Given the description of an element on the screen output the (x, y) to click on. 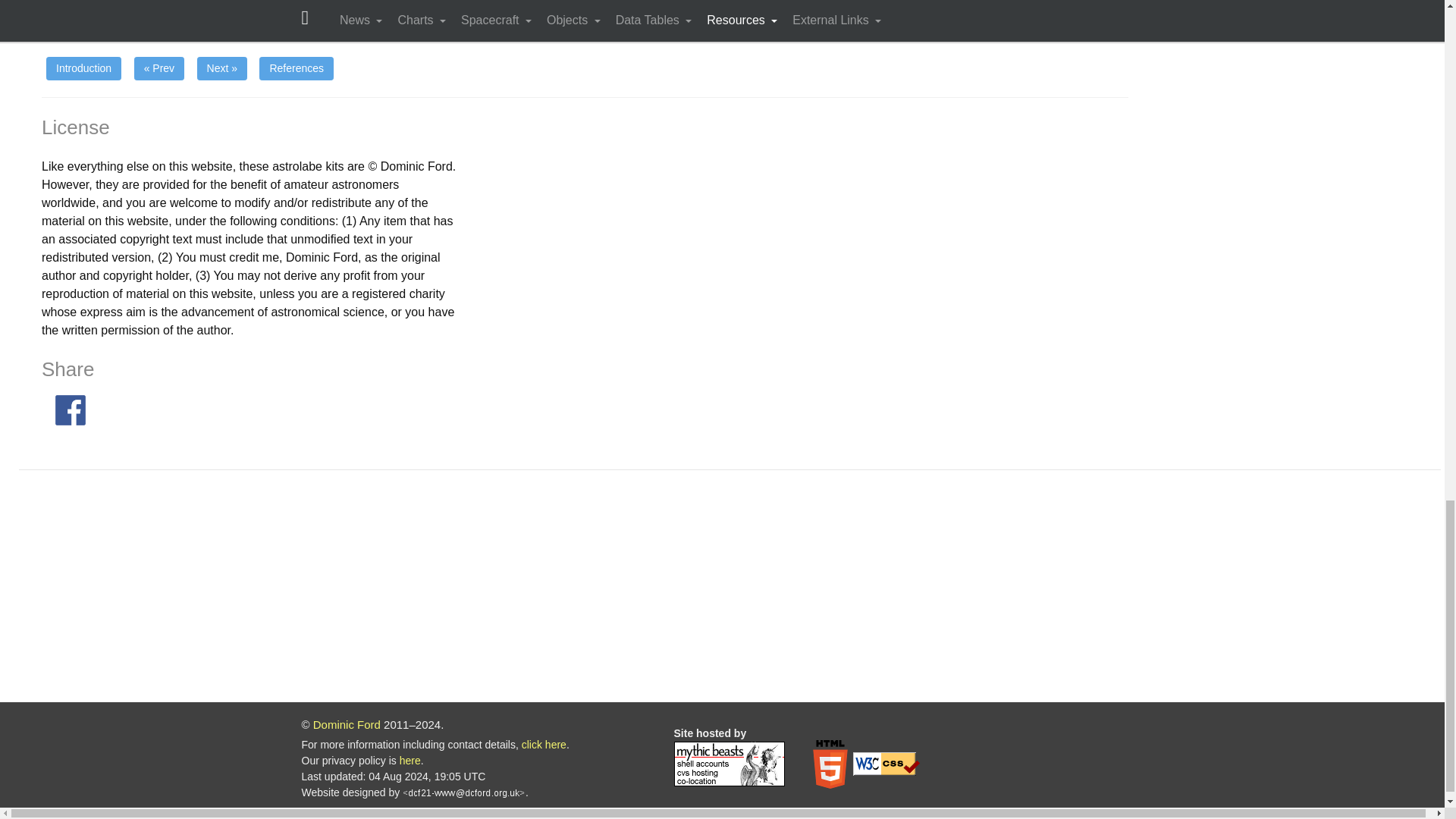
References (296, 68)
Introduction (83, 68)
